Given the description of an element on the screen output the (x, y) to click on. 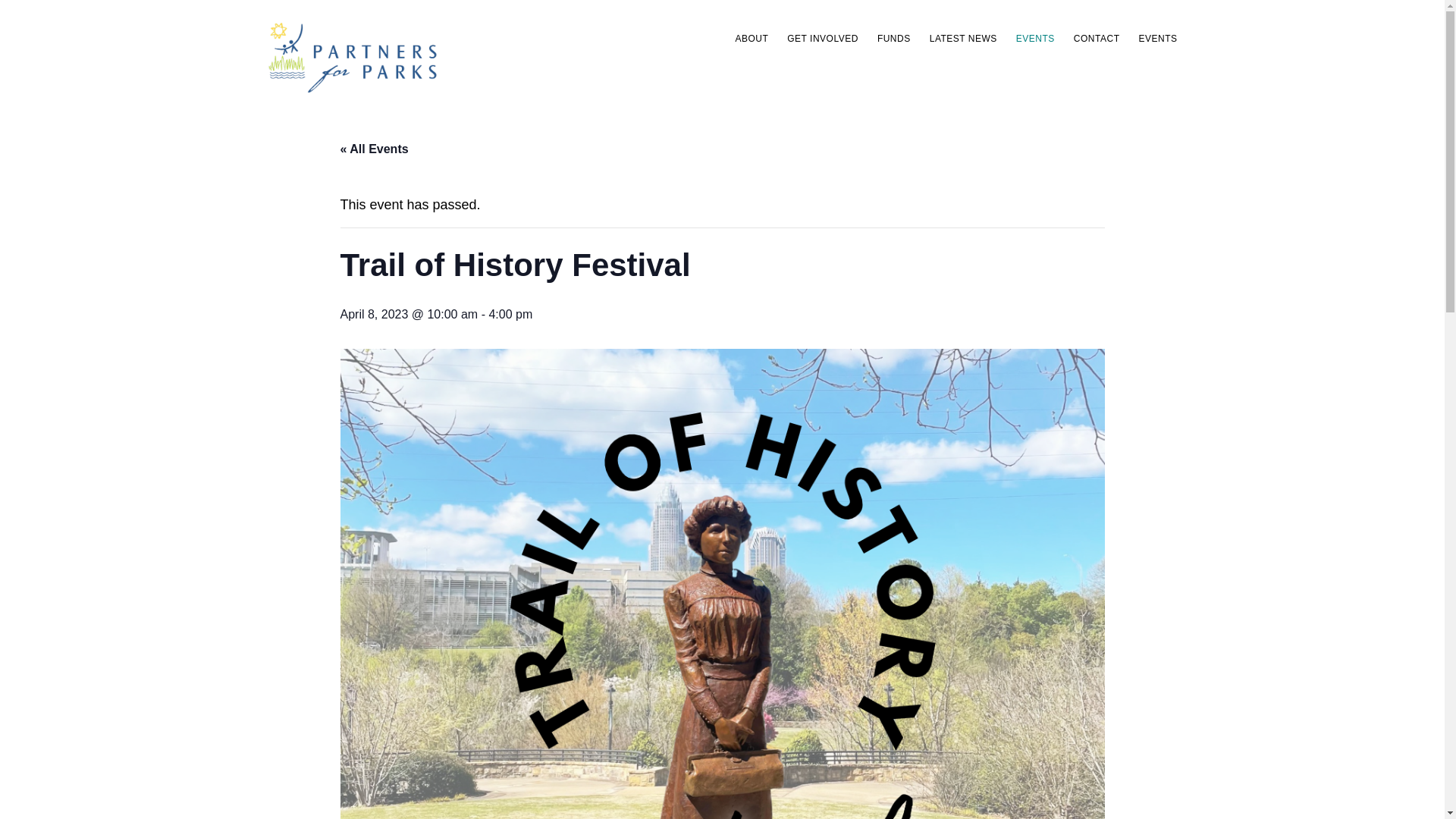
CONTACT (1095, 37)
LATEST NEWS (962, 37)
GET INVOLVED (822, 37)
ABOUT (751, 37)
EVENTS (1035, 37)
EVENTS (1158, 37)
FUNDS (893, 37)
